Given the description of an element on the screen output the (x, y) to click on. 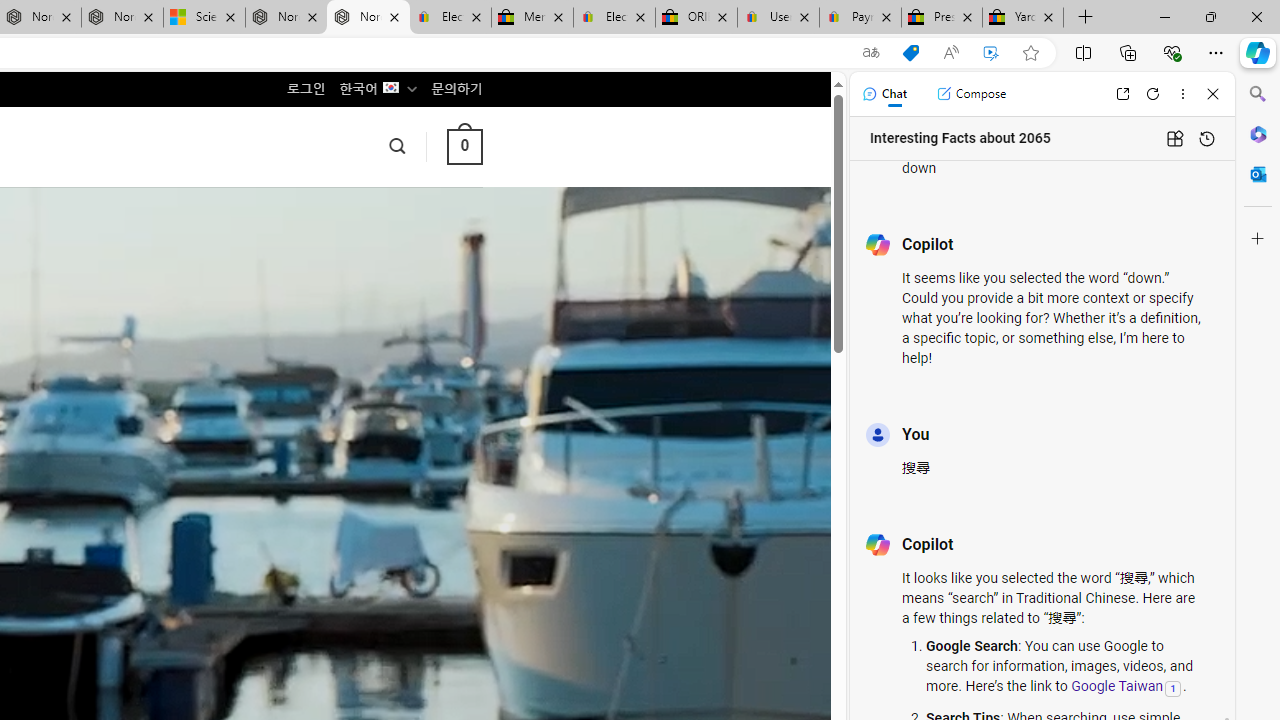
Nordace - Summer Adventures 2024 (285, 17)
Restore (1210, 16)
Copilot (Ctrl+Shift+.) (1258, 52)
Chat (884, 93)
New Tab (1085, 17)
Close (1213, 93)
Search (1258, 94)
Microsoft 365 (1258, 133)
